Given the description of an element on the screen output the (x, y) to click on. 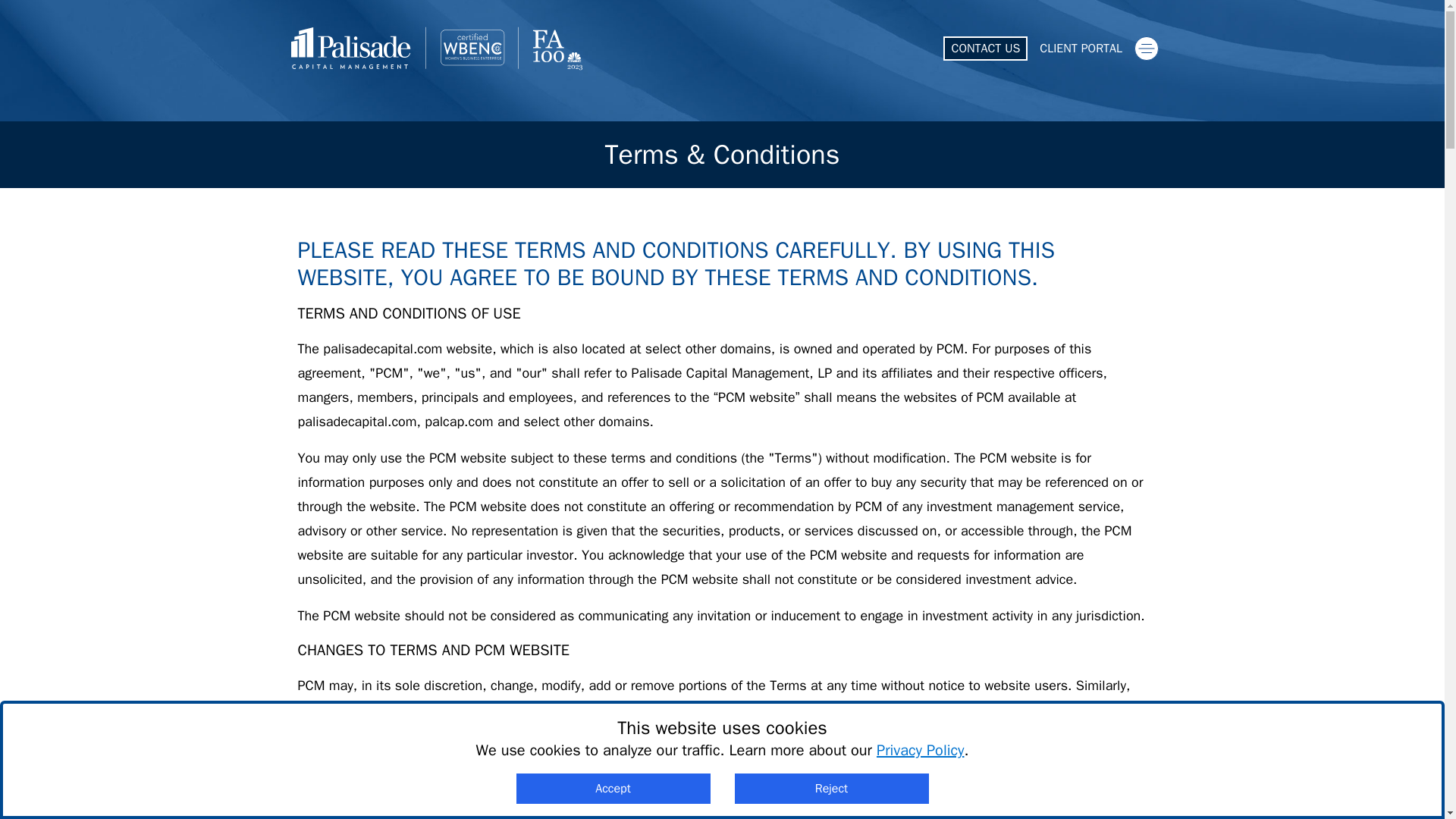
CLIENT PORTAL (1080, 47)
Reject (830, 788)
CONTACT US (985, 48)
Privacy Policy (919, 750)
Accept (612, 788)
